Given the description of an element on the screen output the (x, y) to click on. 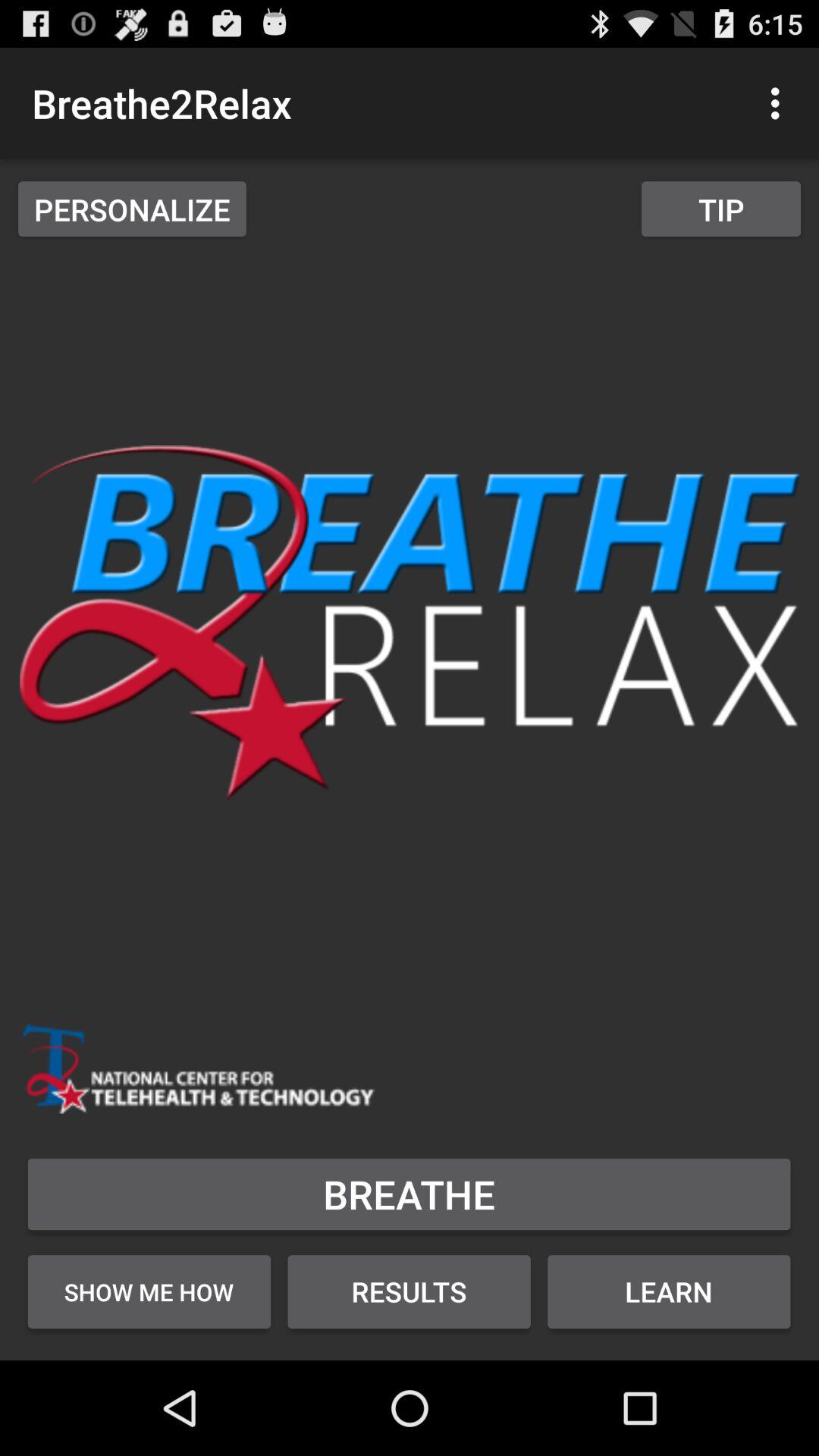
press show me how (148, 1291)
